Given the description of an element on the screen output the (x, y) to click on. 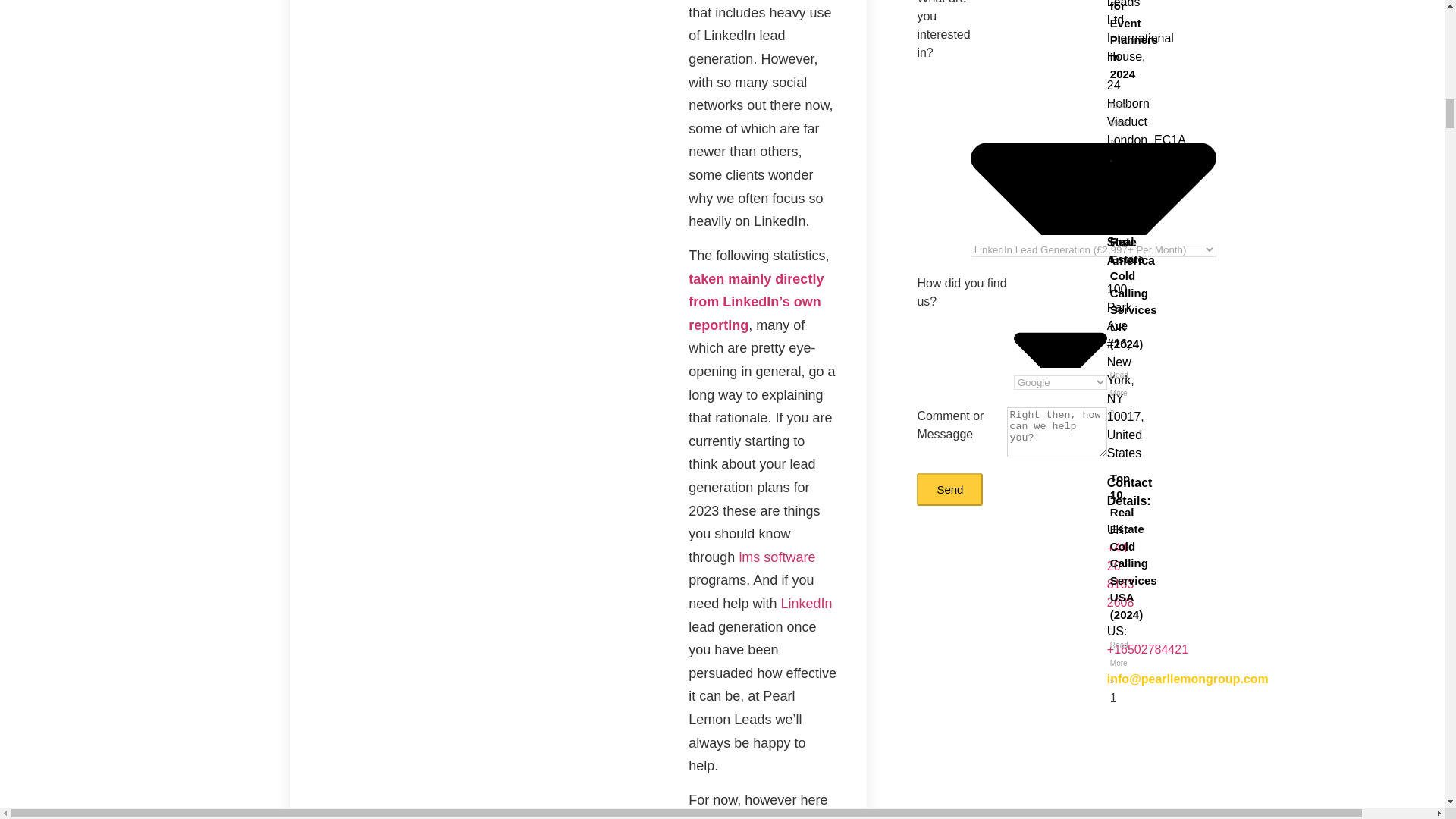
LinkedIn (805, 603)
